Given the description of an element on the screen output the (x, y) to click on. 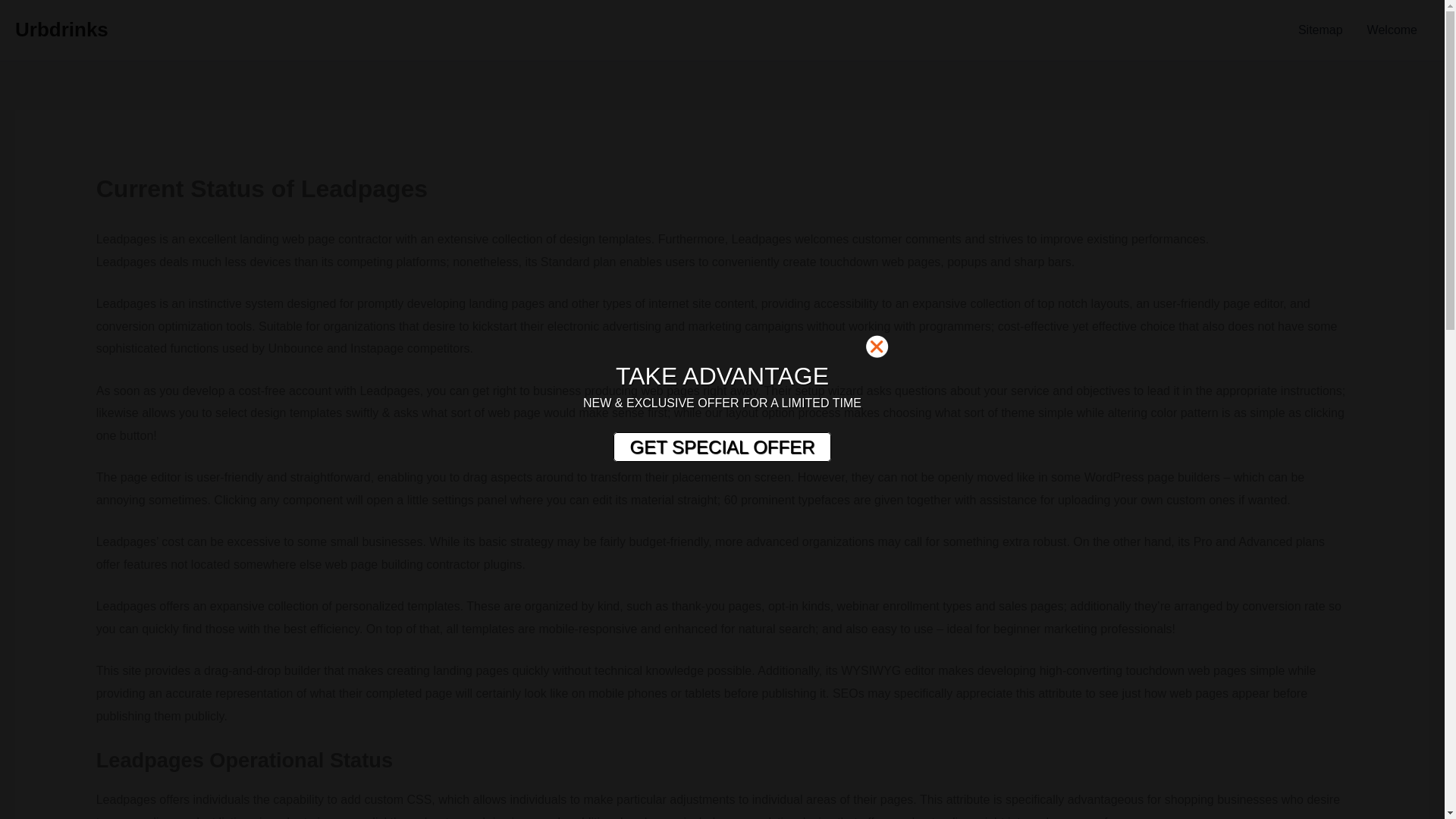
GET SPECIAL OFFER (720, 446)
Welcome (1392, 30)
Urbdrinks (60, 29)
Sitemap (1320, 30)
